Given the description of an element on the screen output the (x, y) to click on. 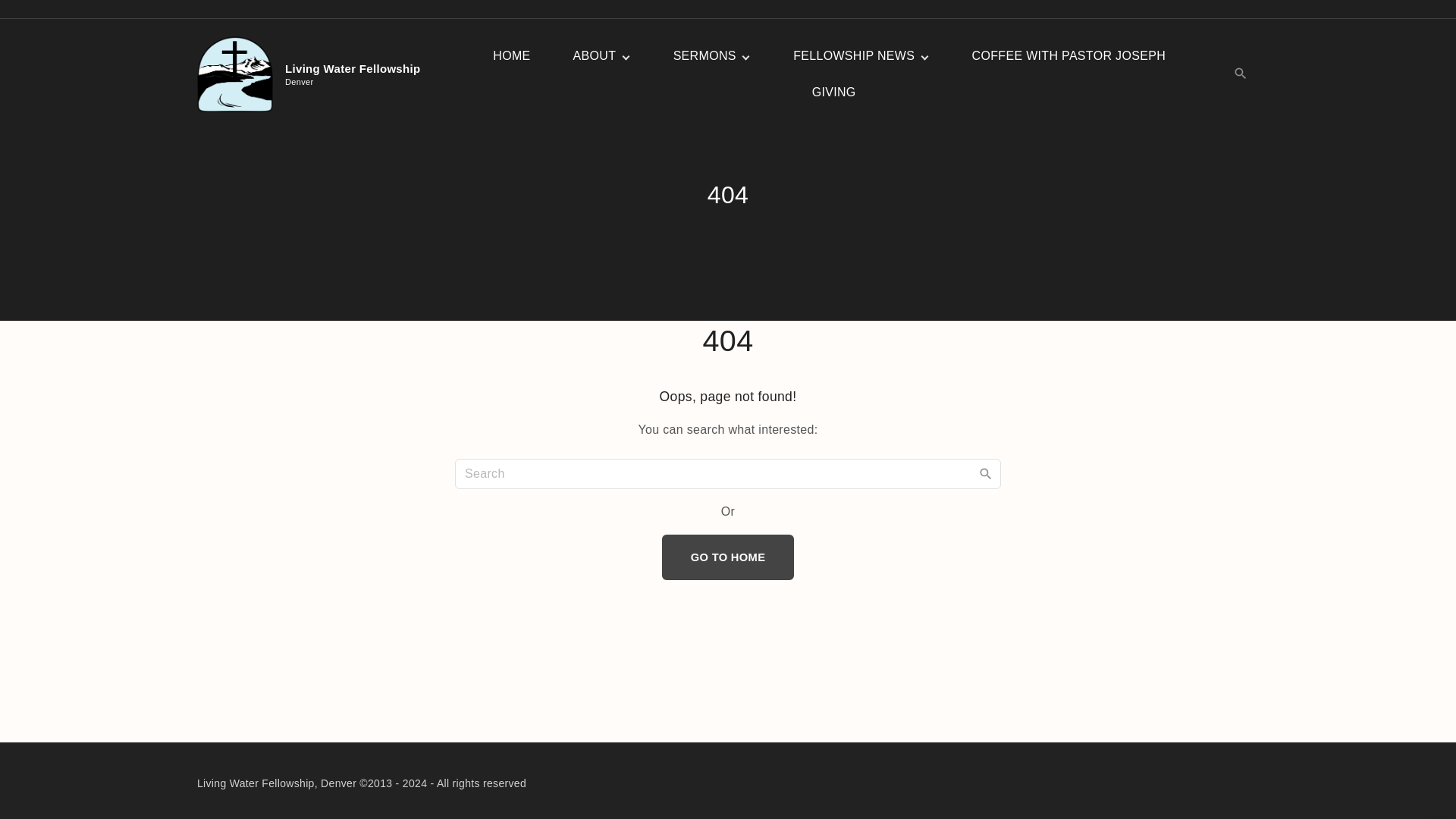
SEARCH (986, 472)
HOME (511, 55)
GO TO HOME (728, 557)
FELLOWSHIP NEWS (854, 55)
ABOUT (595, 55)
GIVING (834, 92)
SERMONS (705, 55)
COFFEE WITH PASTOR JOSEPH (314, 74)
